Given the description of an element on the screen output the (x, y) to click on. 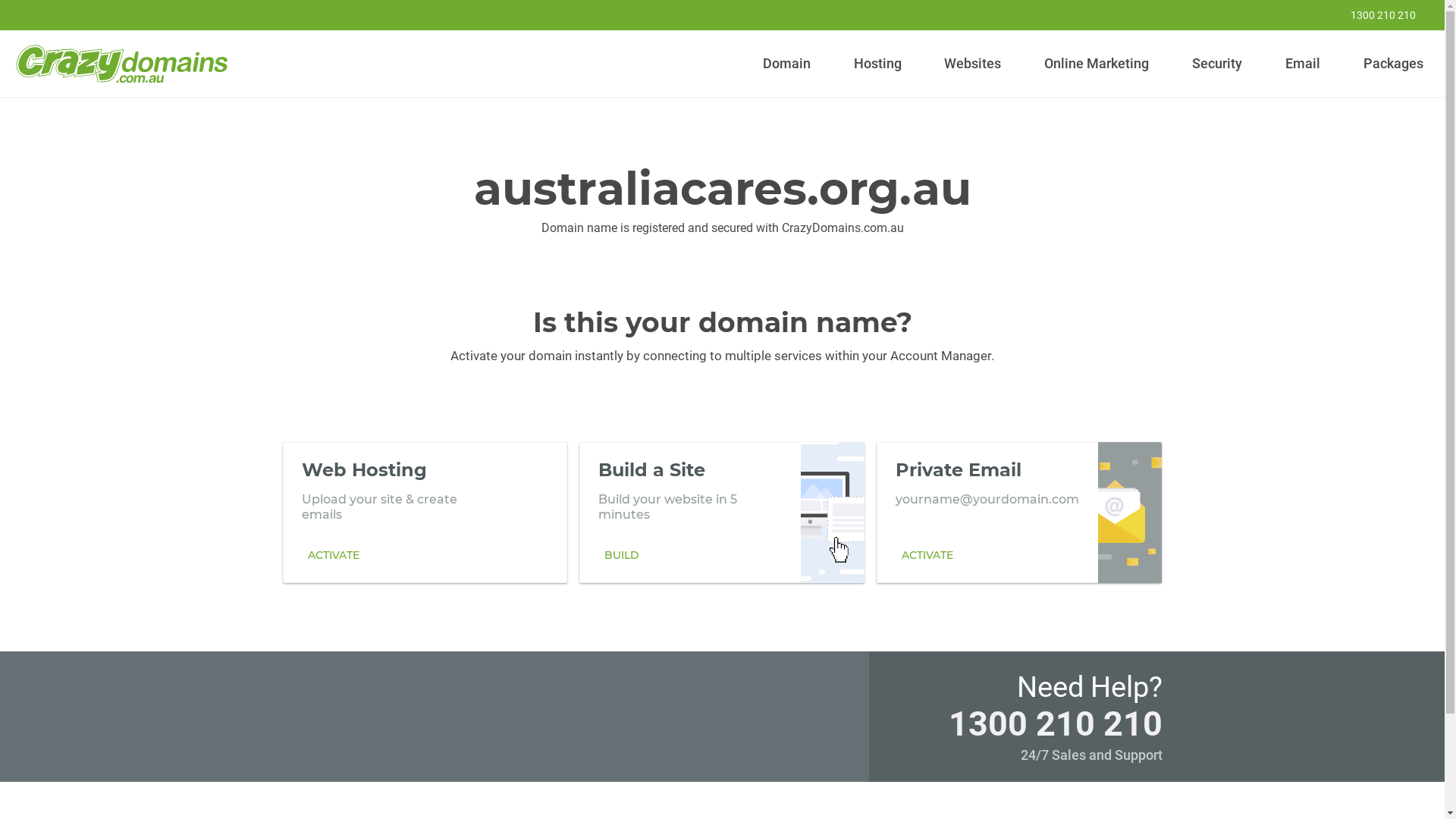
Security Element type: text (1217, 63)
Private Email
yourname@yourdomain.com
ACTIVATE Element type: text (1018, 511)
Email Element type: text (1302, 63)
Packages Element type: text (1392, 63)
1300 210 210 Element type: text (1054, 723)
Online Marketing Element type: text (1096, 63)
Build a Site
Build your website in 5 minutes
BUILD Element type: text (721, 511)
1300 210 210 Element type: text (1373, 15)
Web Hosting
Upload your site & create emails
ACTIVATE Element type: text (424, 511)
Domain Element type: text (786, 63)
Hosting Element type: text (877, 63)
Websites Element type: text (972, 63)
